Given the description of an element on the screen output the (x, y) to click on. 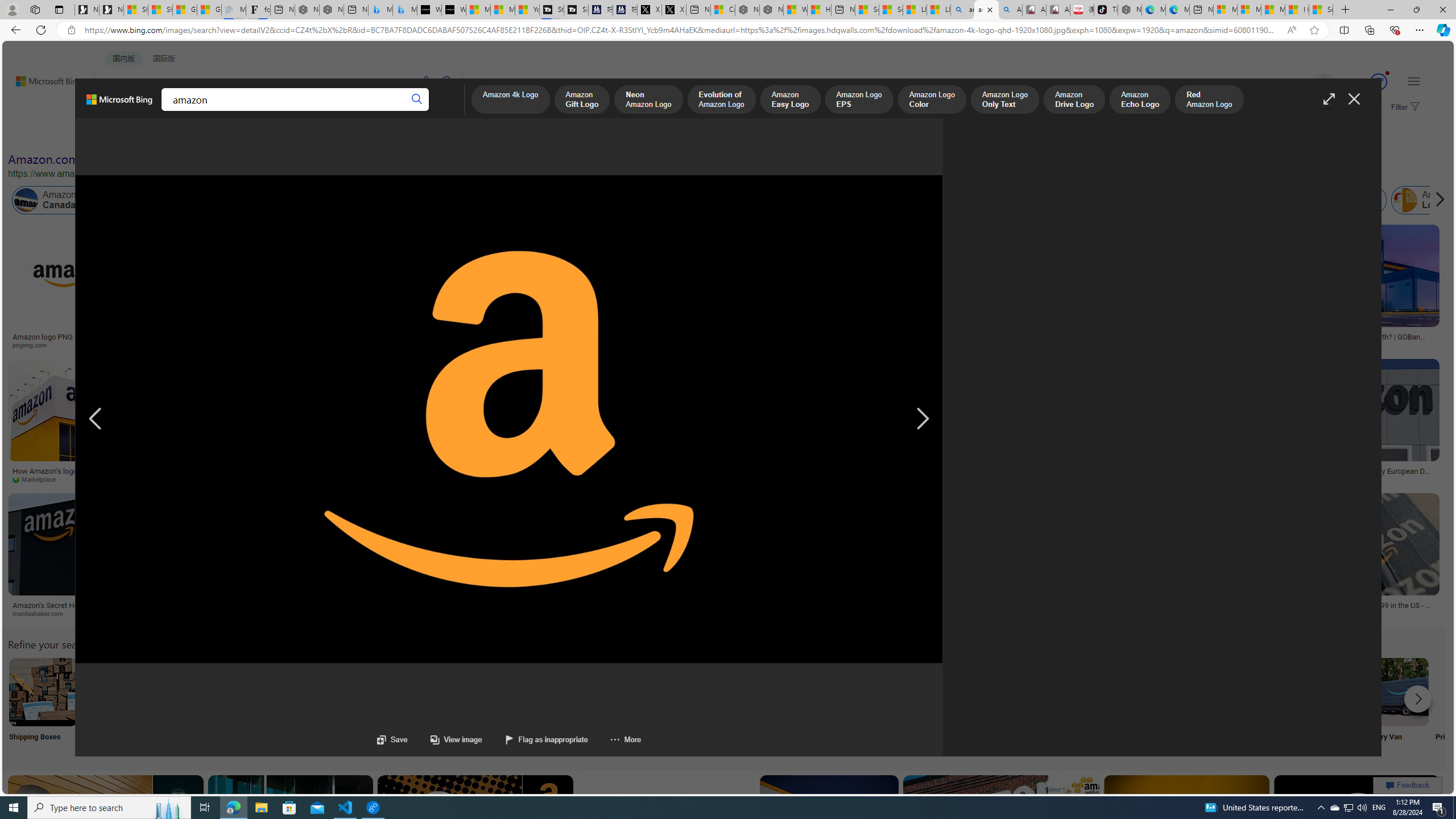
Flag as inappropriate (545, 739)
Scroll right (1436, 199)
DICT (357, 111)
Retail Store (493, 706)
Best Amazon Cyber Monday deals 2019 | PCWorld (910, 474)
Amazon Echo Dot 4th Gen (617, 264)
Amazon Logo EPS (858, 100)
vecteezy.com (546, 479)
olhardigital.com.br (823, 613)
